Given the description of an element on the screen output the (x, y) to click on. 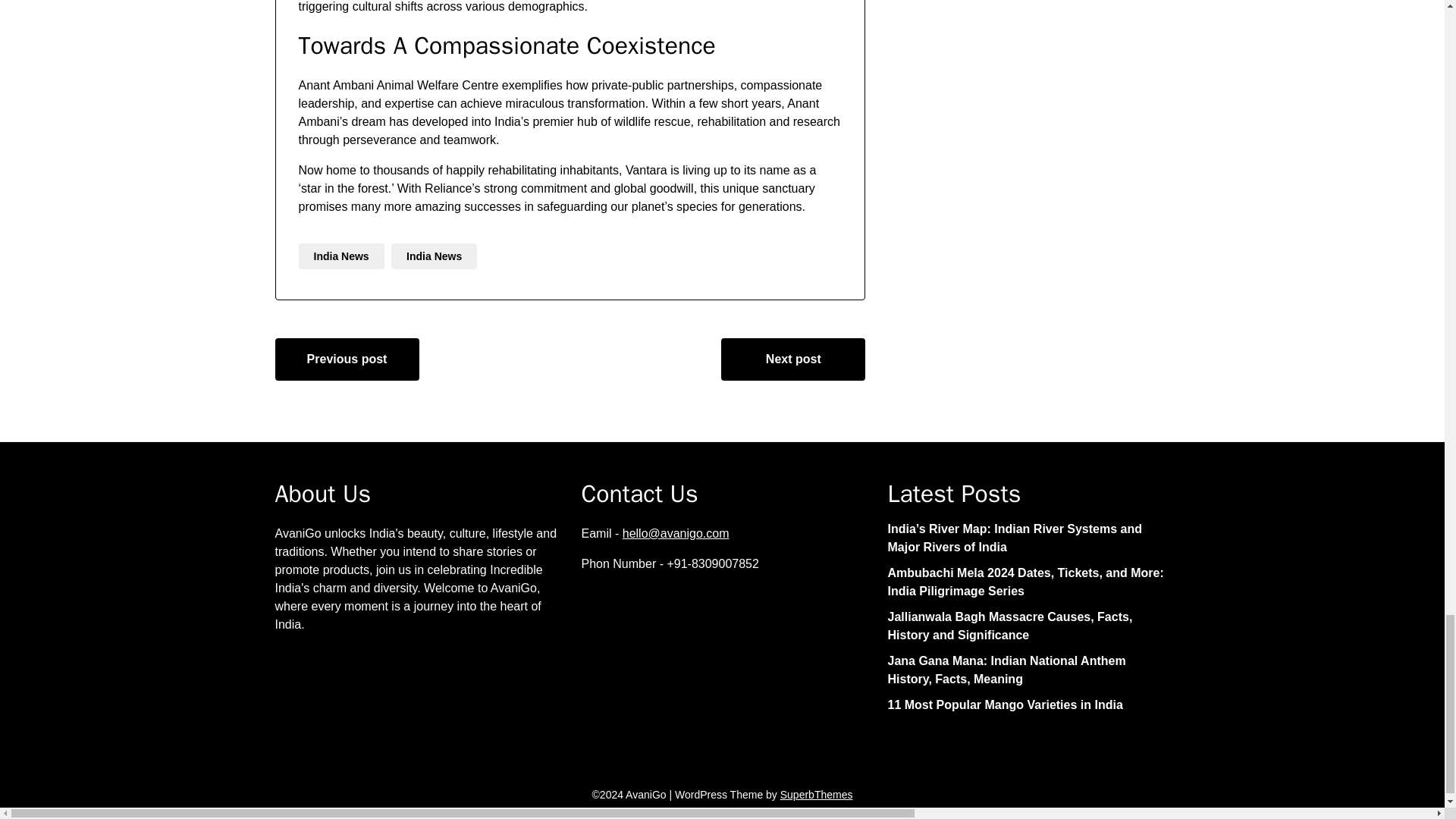
India News (434, 256)
India News (341, 256)
Next post (792, 359)
Previous post (347, 359)
